Given the description of an element on the screen output the (x, y) to click on. 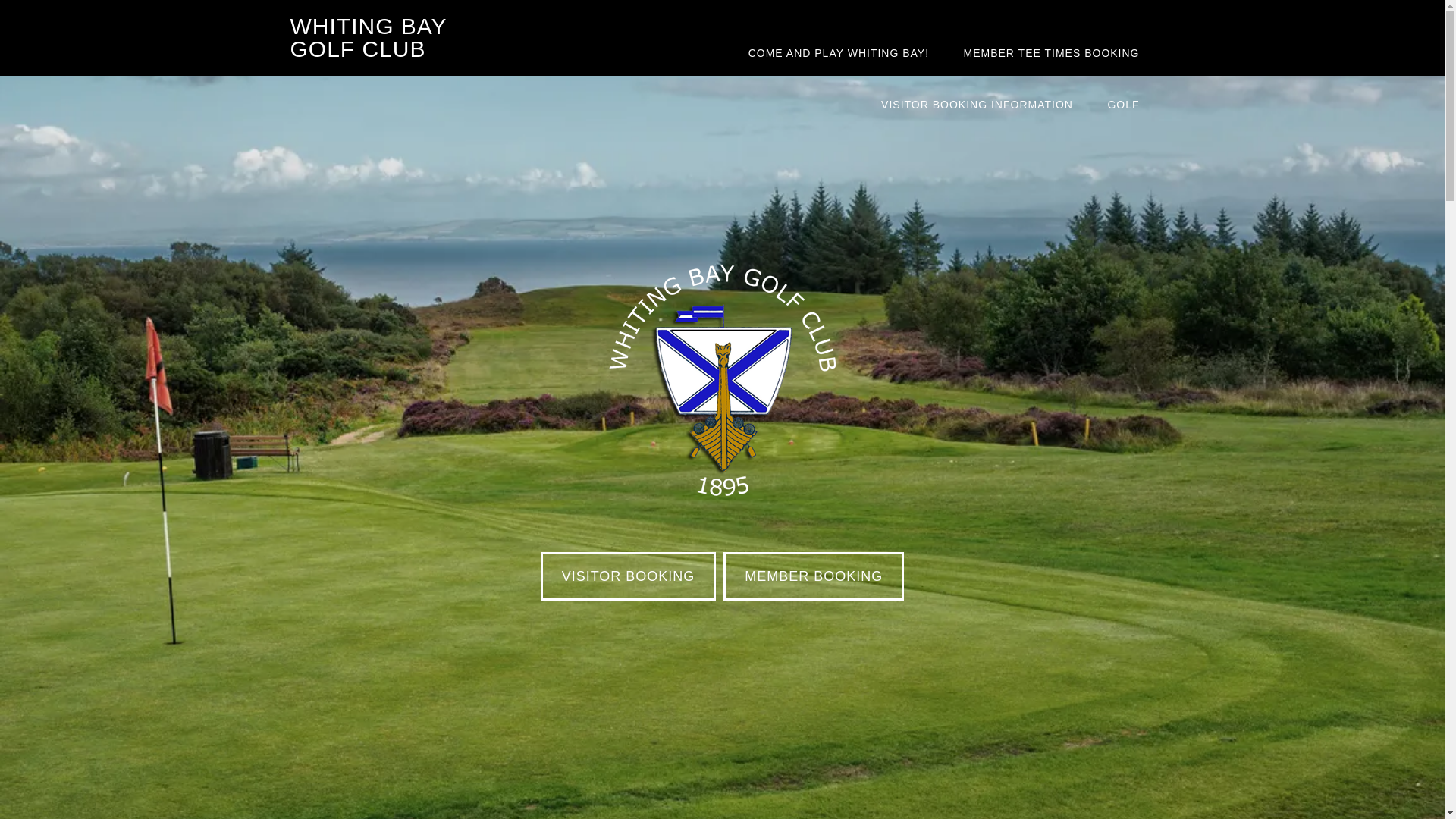
VISITOR BOOKING (628, 576)
VISITOR BOOKING INFORMATION (976, 104)
MEMBER BOOKING (813, 576)
GOLF (1123, 104)
COME AND PLAY WHITING BAY! (838, 52)
WHITING BAY GOLF CLUB (367, 37)
MEMBER TEE TIMES BOOKING (1051, 52)
